Given the description of an element on the screen output the (x, y) to click on. 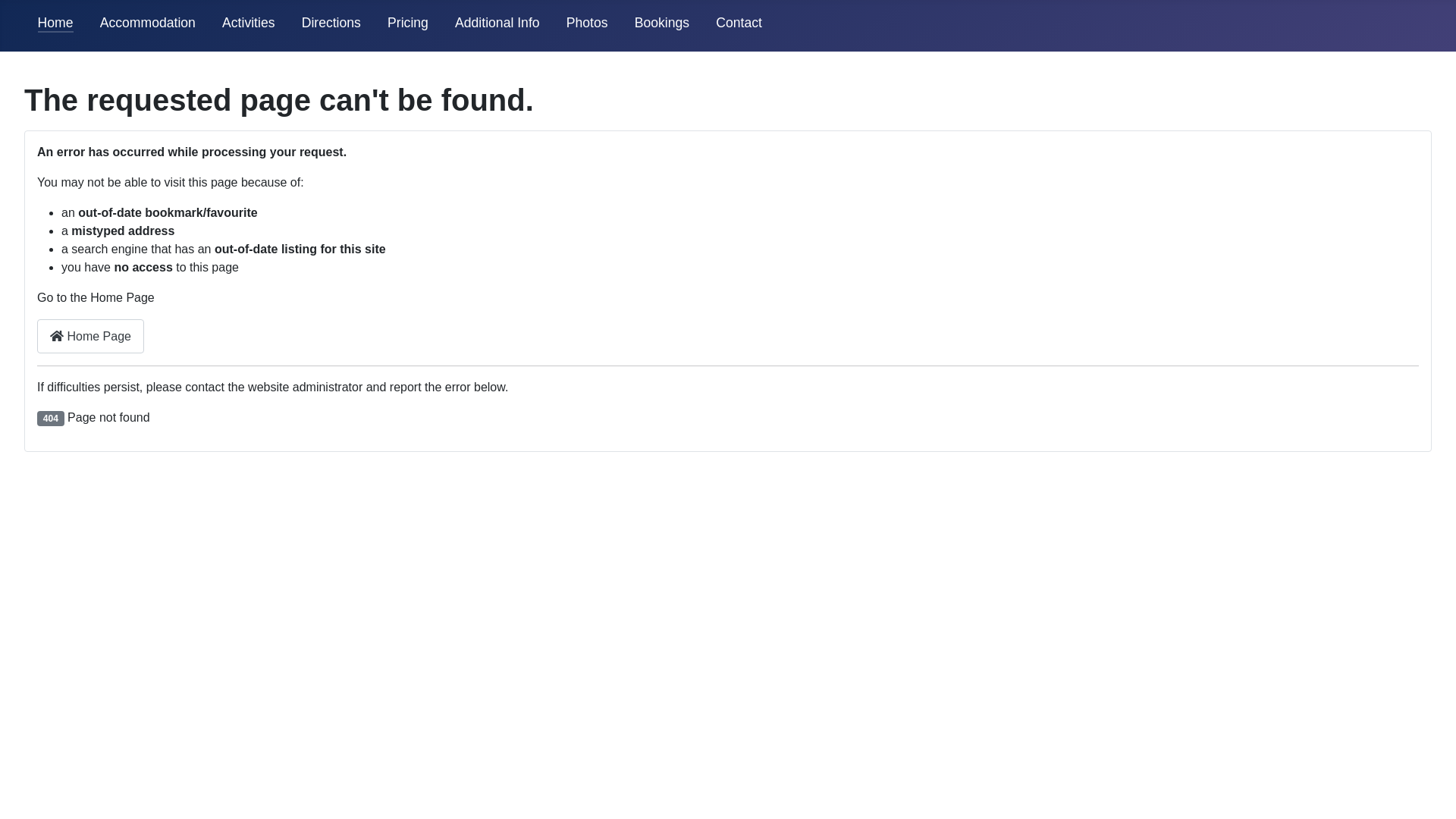
Activities Element type: text (248, 22)
Accommodation Element type: text (147, 22)
Bookings Element type: text (661, 22)
Additional Info Element type: text (497, 22)
Photos Element type: text (587, 22)
Directions Element type: text (330, 22)
Home Page Element type: text (90, 336)
Home Element type: text (55, 22)
Pricing Element type: text (407, 22)
Contact Element type: text (738, 22)
